Given the description of an element on the screen output the (x, y) to click on. 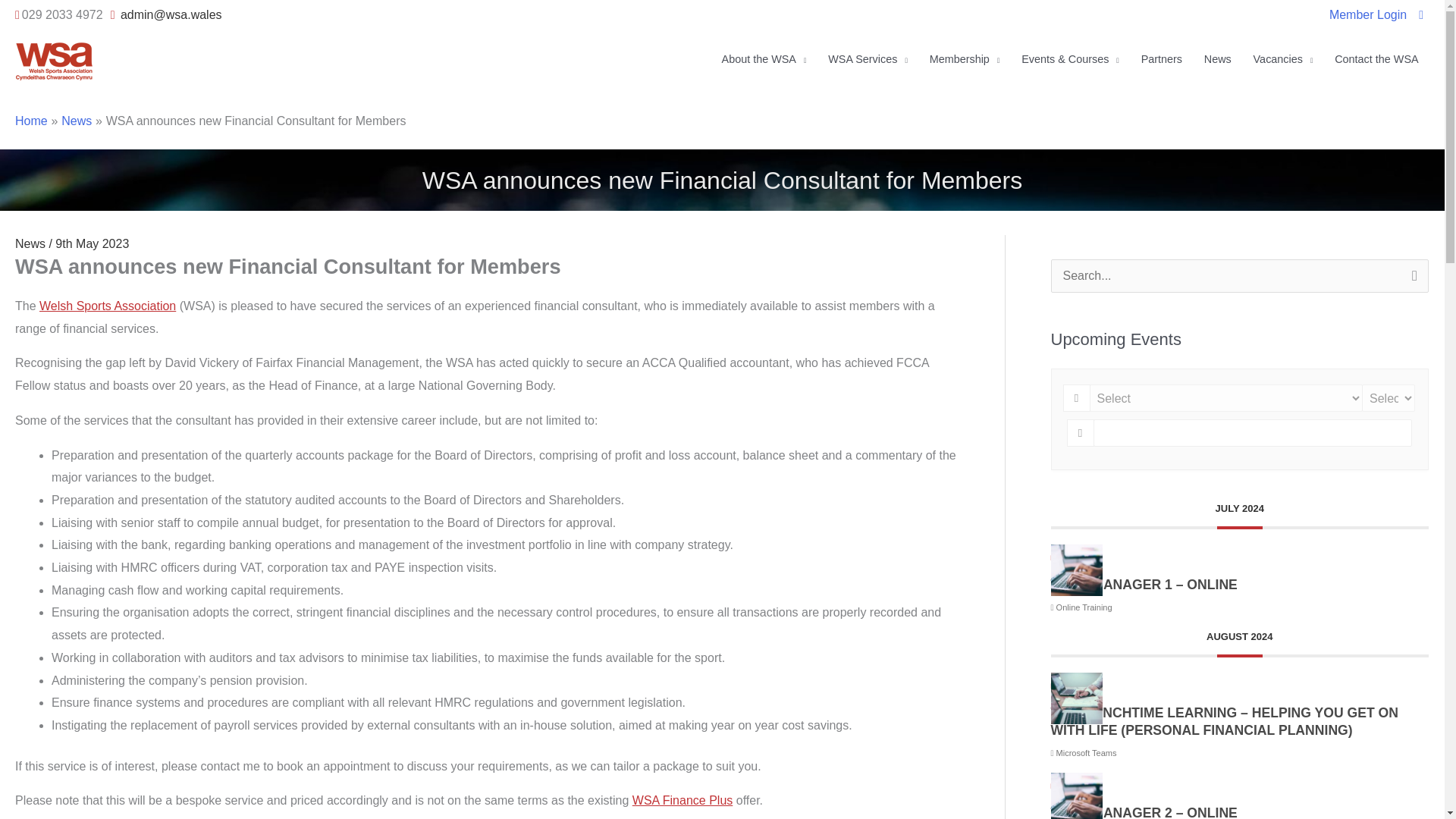
About the WSA (763, 59)
Search (1411, 280)
Search (1411, 280)
Member Login (1367, 15)
WSA Services (867, 59)
